Given the description of an element on the screen output the (x, y) to click on. 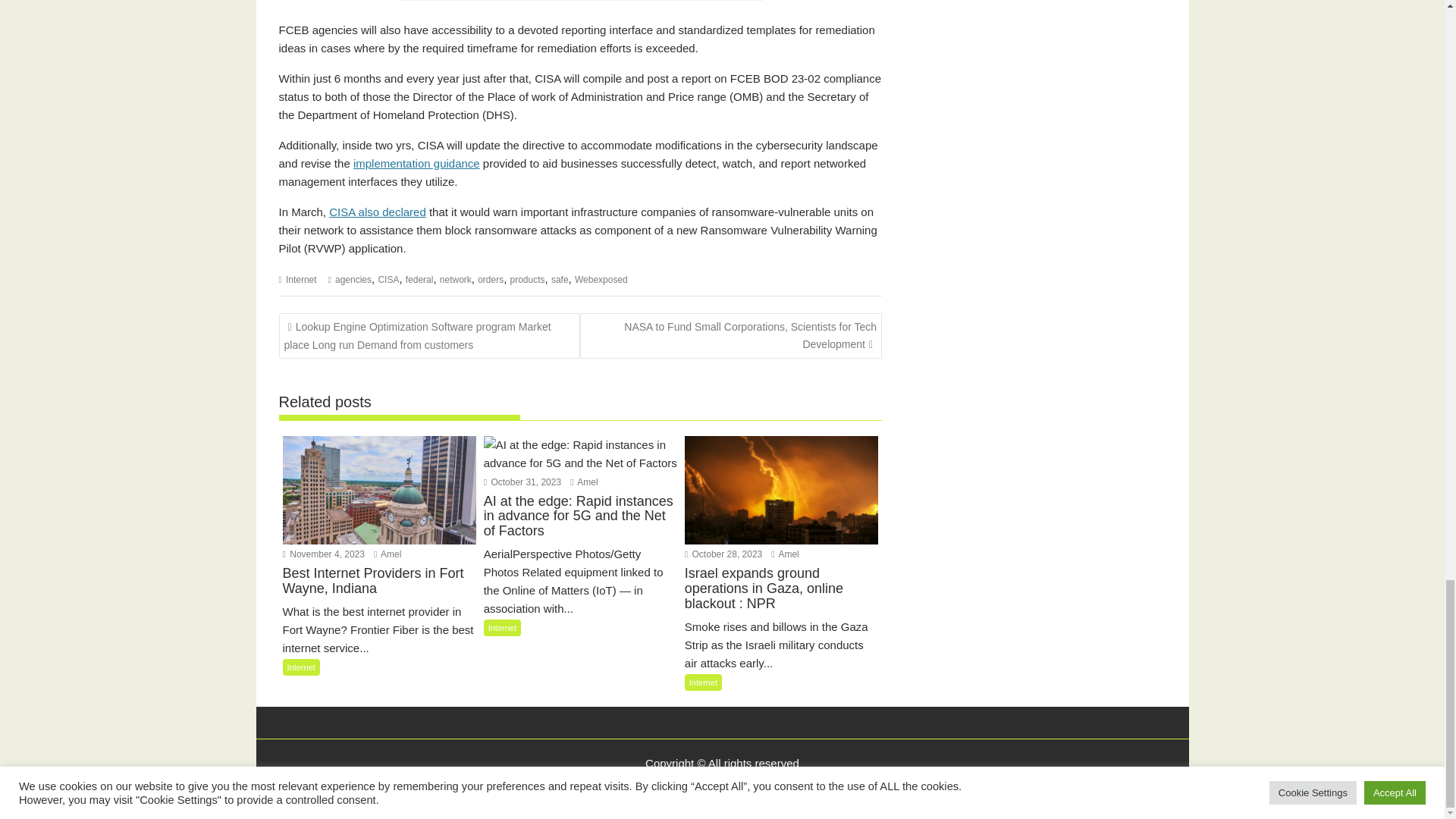
Best Internet Providers in Fort Wayne, Indiana (379, 490)
Amel (583, 481)
Amel (387, 553)
Amel (784, 553)
